Given the description of an element on the screen output the (x, y) to click on. 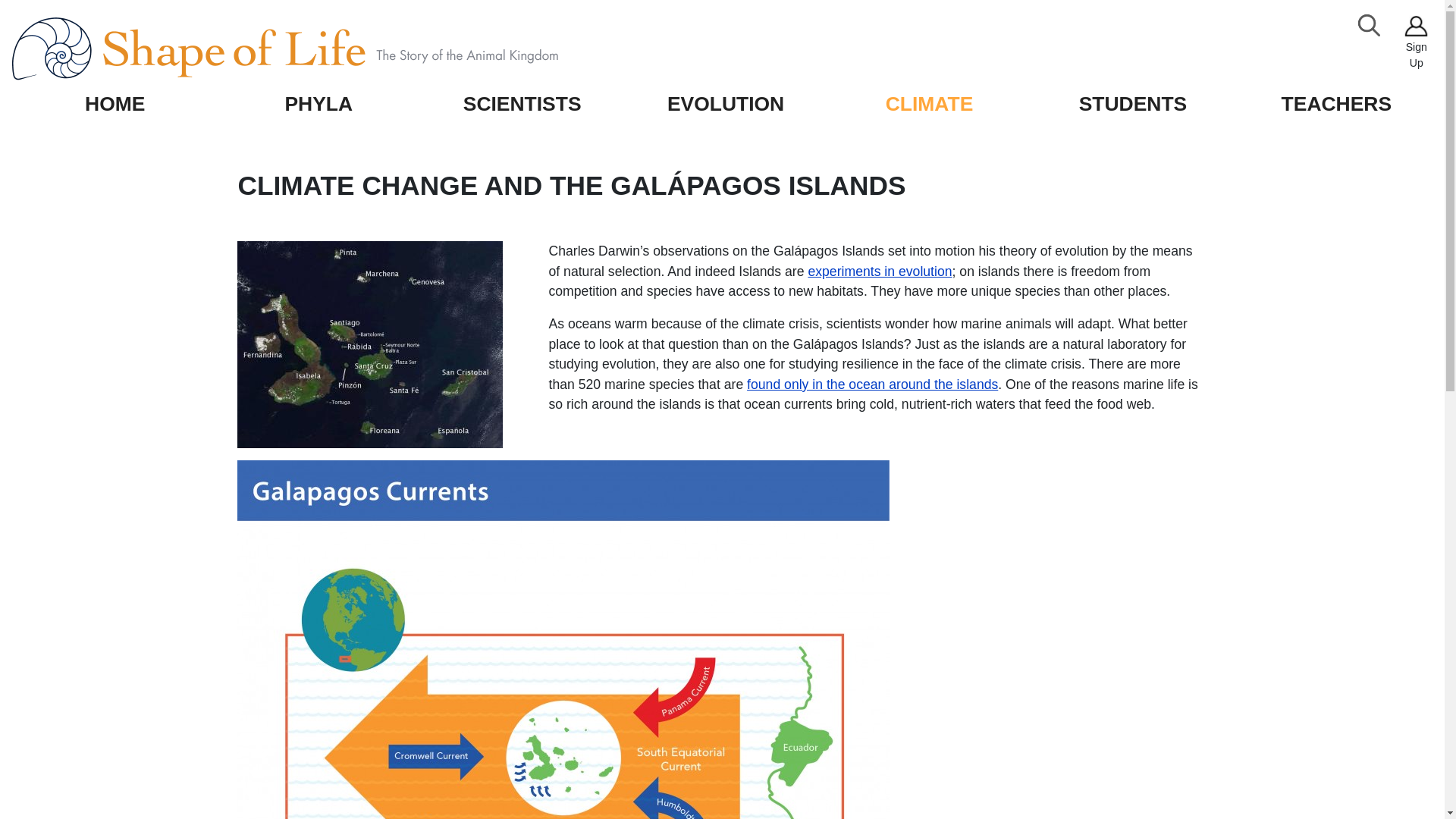
Search (1369, 26)
Home (319, 48)
Skip to main content (66, 11)
